Given the description of an element on the screen output the (x, y) to click on. 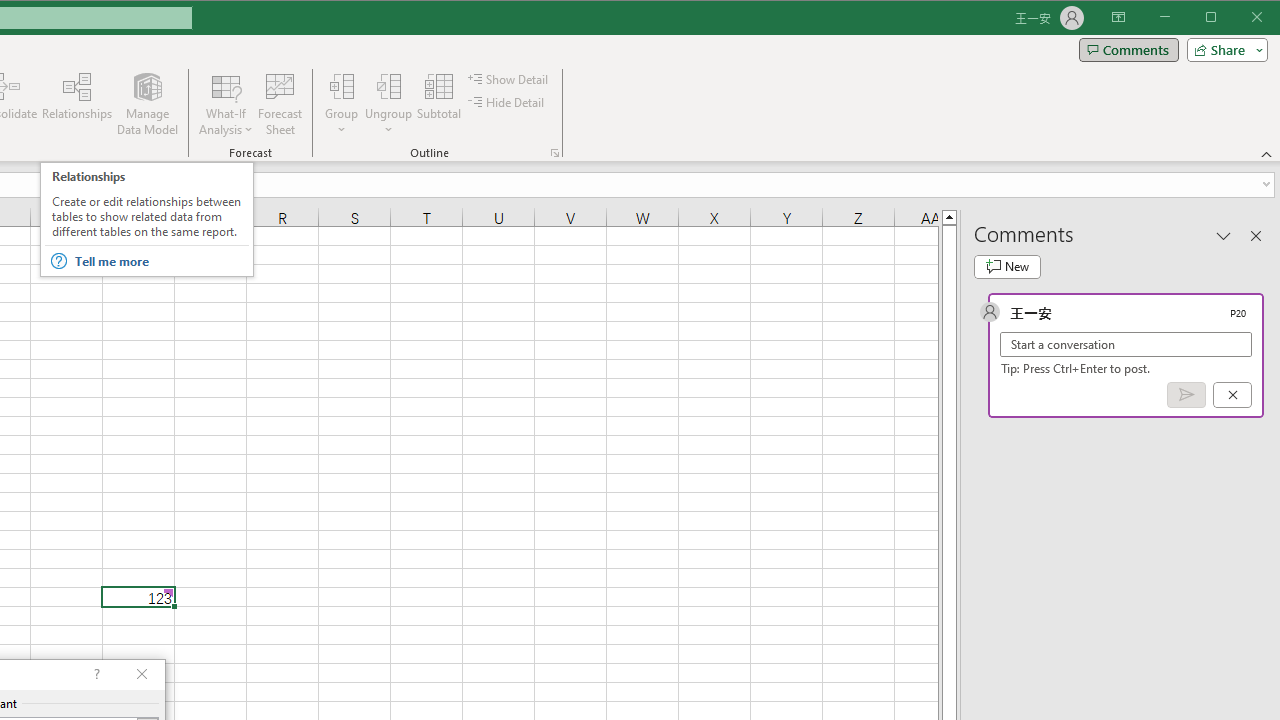
Start a conversation (1126, 344)
Post comment (Ctrl + Enter) (1186, 395)
Tell me more (160, 261)
